Given the description of an element on the screen output the (x, y) to click on. 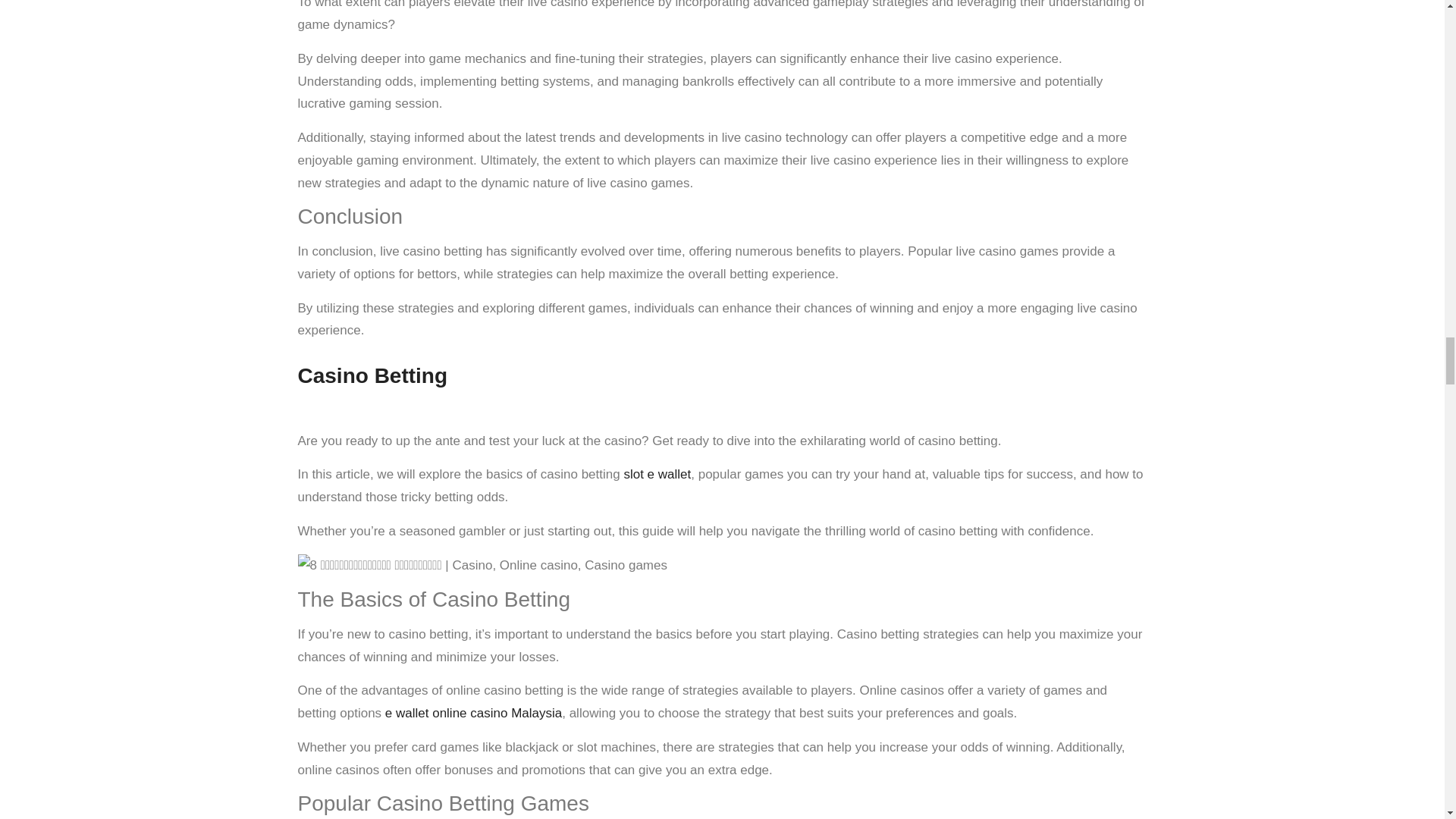
slot e wallet (656, 473)
Casino Betting (371, 375)
e wallet online casino Malaysia (473, 712)
